Given the description of an element on the screen output the (x, y) to click on. 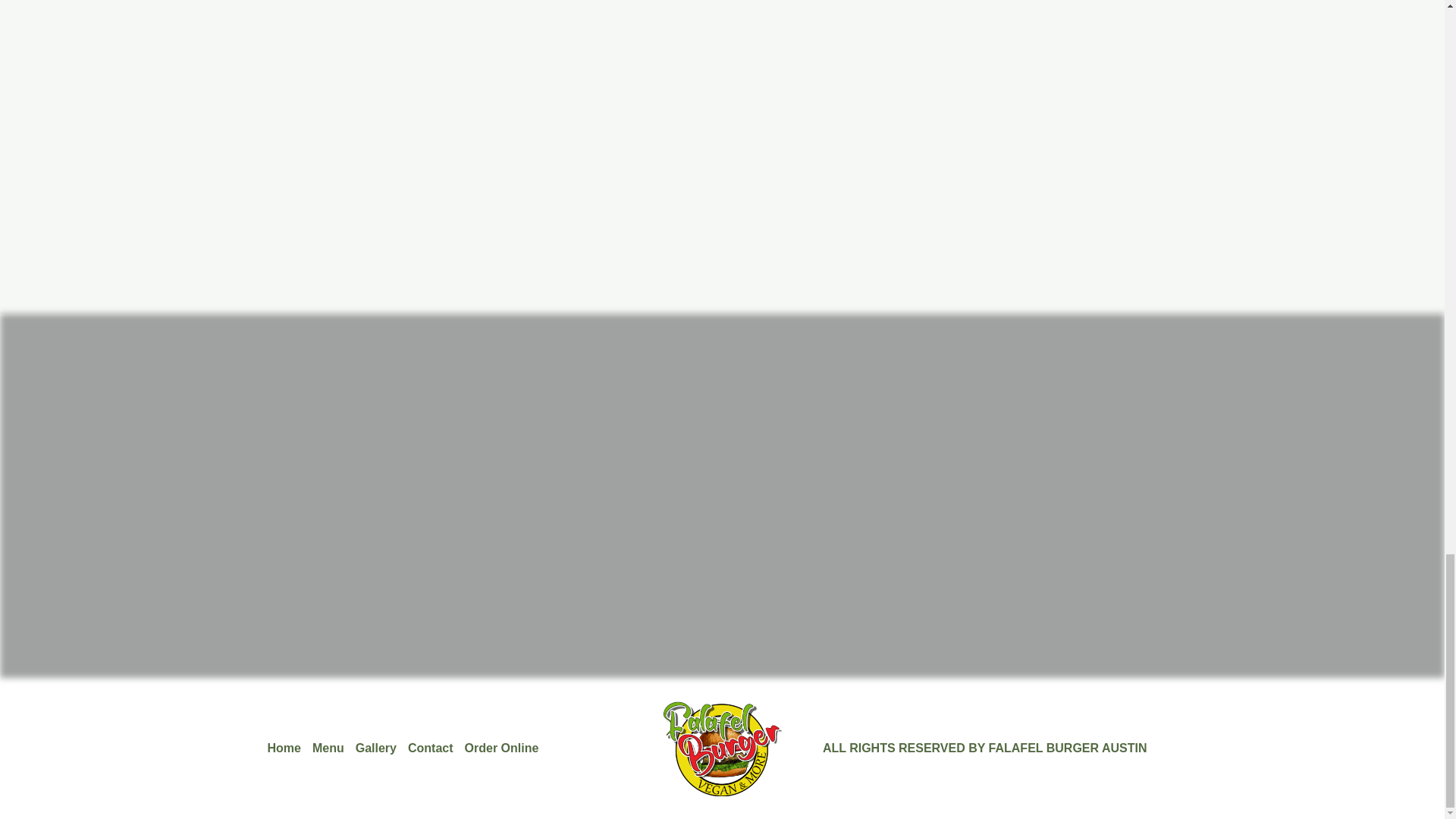
Contact (435, 748)
Menu (334, 748)
Home (288, 748)
Gallery (381, 748)
Order Online (507, 748)
